Given the description of an element on the screen output the (x, y) to click on. 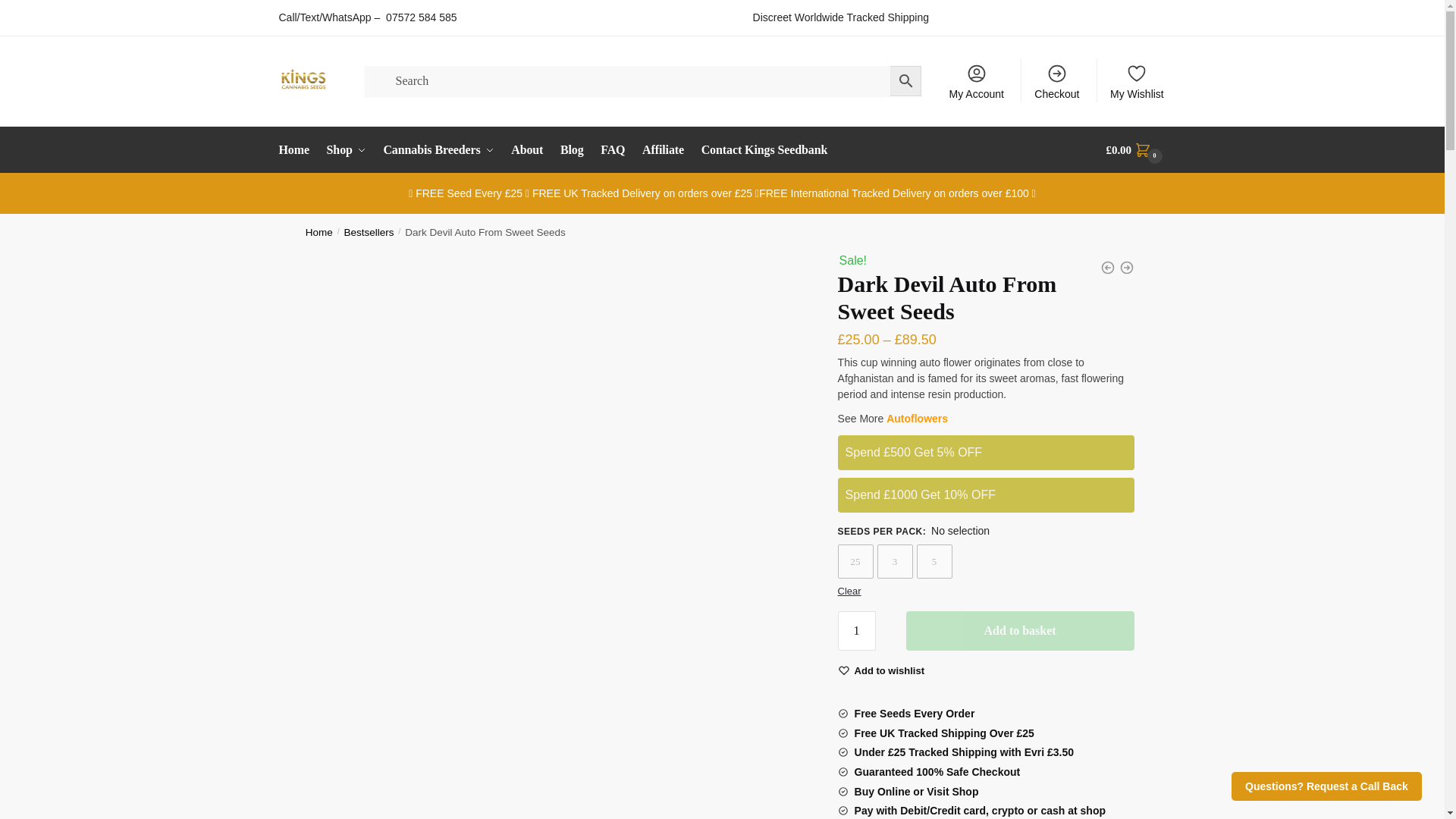
Shop (346, 149)
Wishlist (889, 670)
3 (894, 561)
View your shopping cart (1136, 149)
Checkout (1057, 80)
Cannabis Breeders (438, 149)
My Wishlist (1136, 80)
1 (857, 630)
25 (855, 561)
My Account (976, 80)
